Given the description of an element on the screen output the (x, y) to click on. 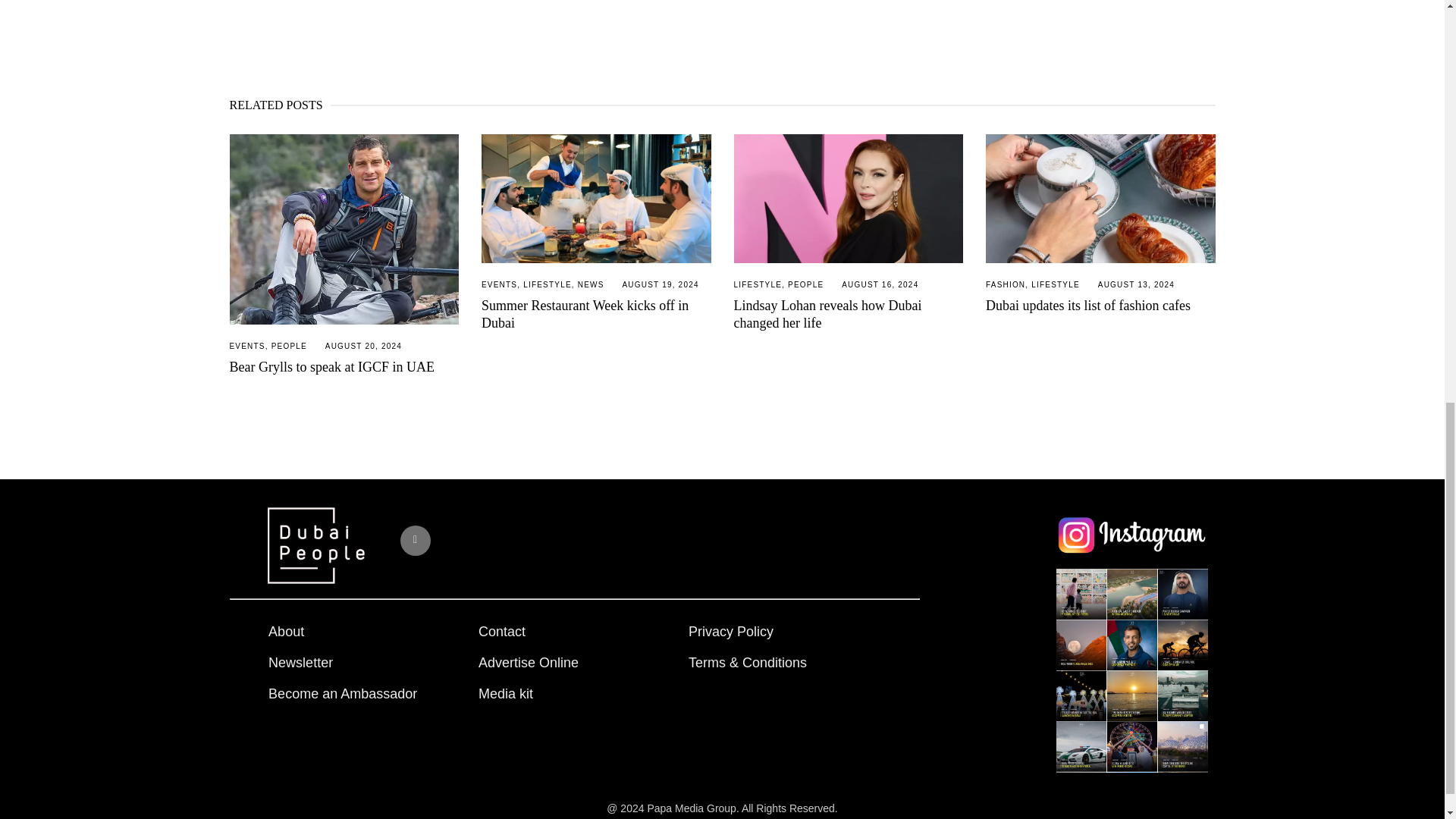
Lindsay Lohan reveals how Dubai changed her life (827, 314)
Bear Grylls to speak at IGCF in UAE (330, 366)
Lindsay Lohan reveals how Dubai changed her life (848, 198)
Dubai updates its list of fashion cafes (1088, 305)
Bear Grylls to speak at IGCF in UAE (343, 229)
Summer Restaurant Week kicks off in Dubai (596, 198)
Instagram (415, 540)
Dubai updates its list of fashion cafes (1100, 198)
Summer Restaurant Week kicks off in Dubai (584, 314)
